Given the description of an element on the screen output the (x, y) to click on. 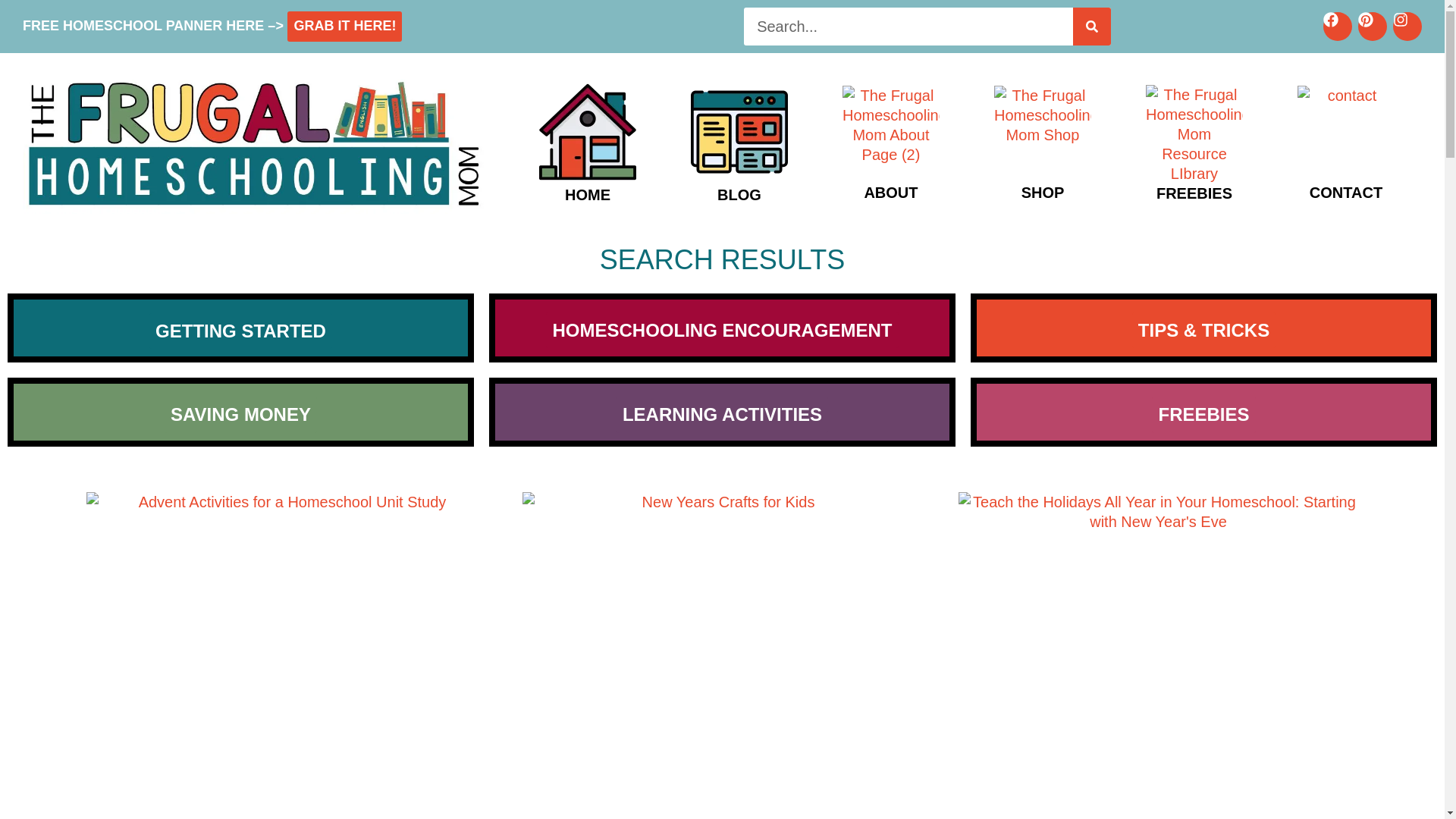
GRAB IT HERE! (343, 24)
DOWNLOAD HERE! (343, 24)
FREEBIES (1203, 414)
GETTING STARTED (240, 330)
HOMESCHOOLING ENCOURAGEMENT (722, 330)
GRAB IT HERE! (343, 25)
LEARNING ACTIVITIES (721, 414)
SAVING MONEY (240, 414)
